Given the description of an element on the screen output the (x, y) to click on. 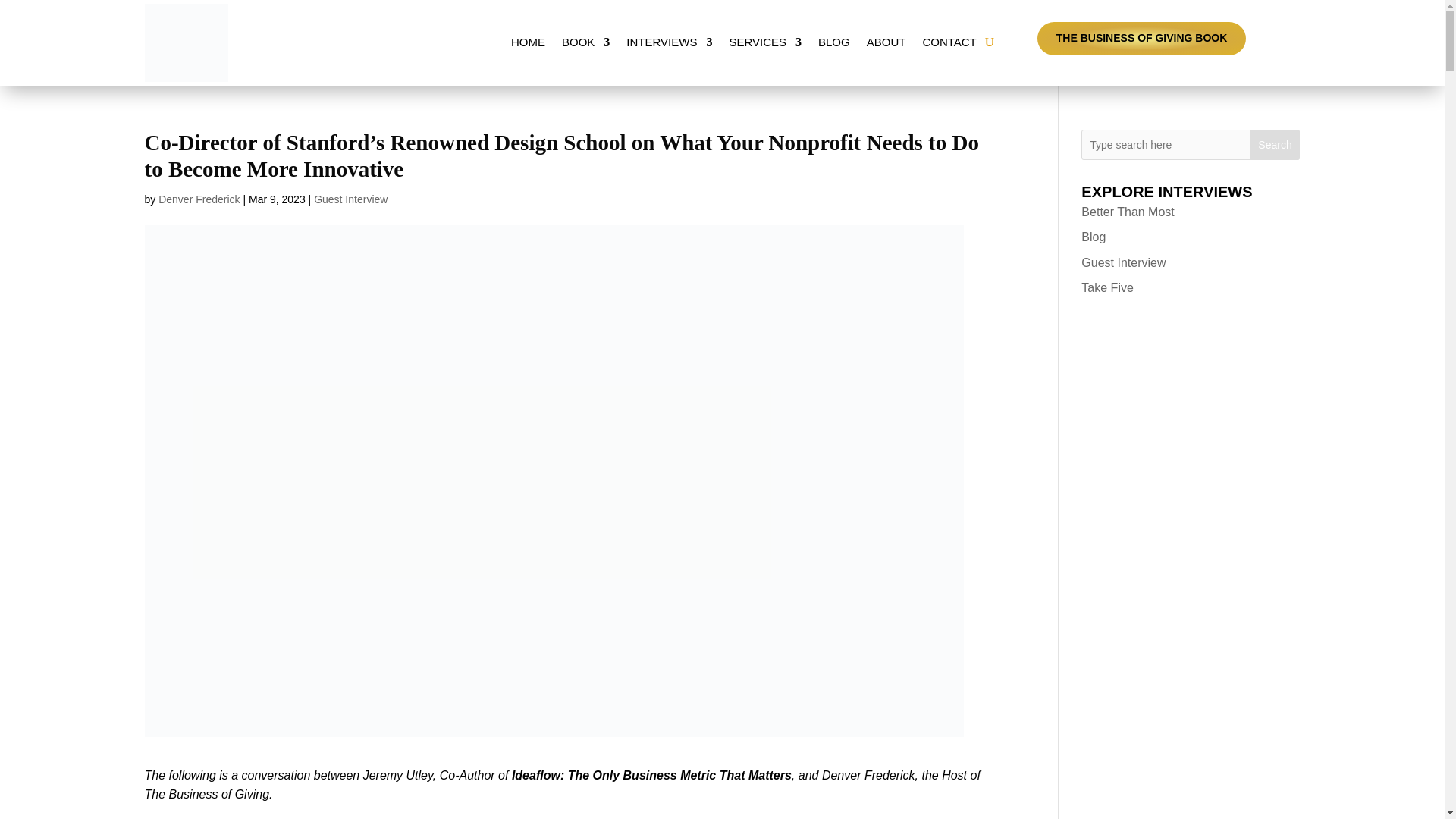
THE BUSINESS OF GIVING BOOK (1141, 38)
INTERVIEWS (668, 42)
Guest Interview (350, 199)
Denver Frederick (199, 199)
Posts by Denver Frederick (199, 199)
SERVICES (765, 42)
